Given the description of an element on the screen output the (x, y) to click on. 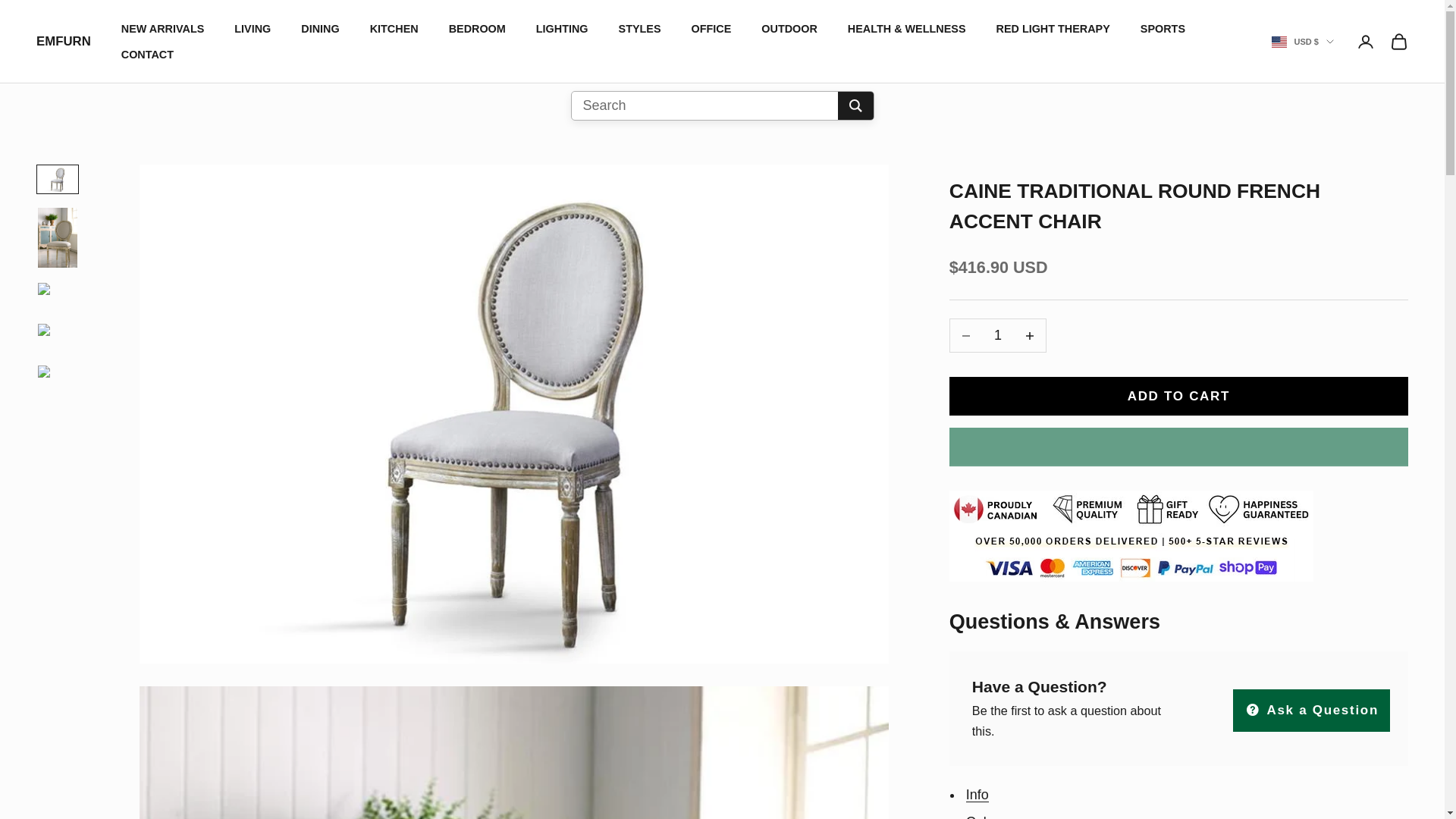
1 (997, 335)
NEW ARRIVALS (162, 28)
EMFURN (63, 42)
